Given the description of an element on the screen output the (x, y) to click on. 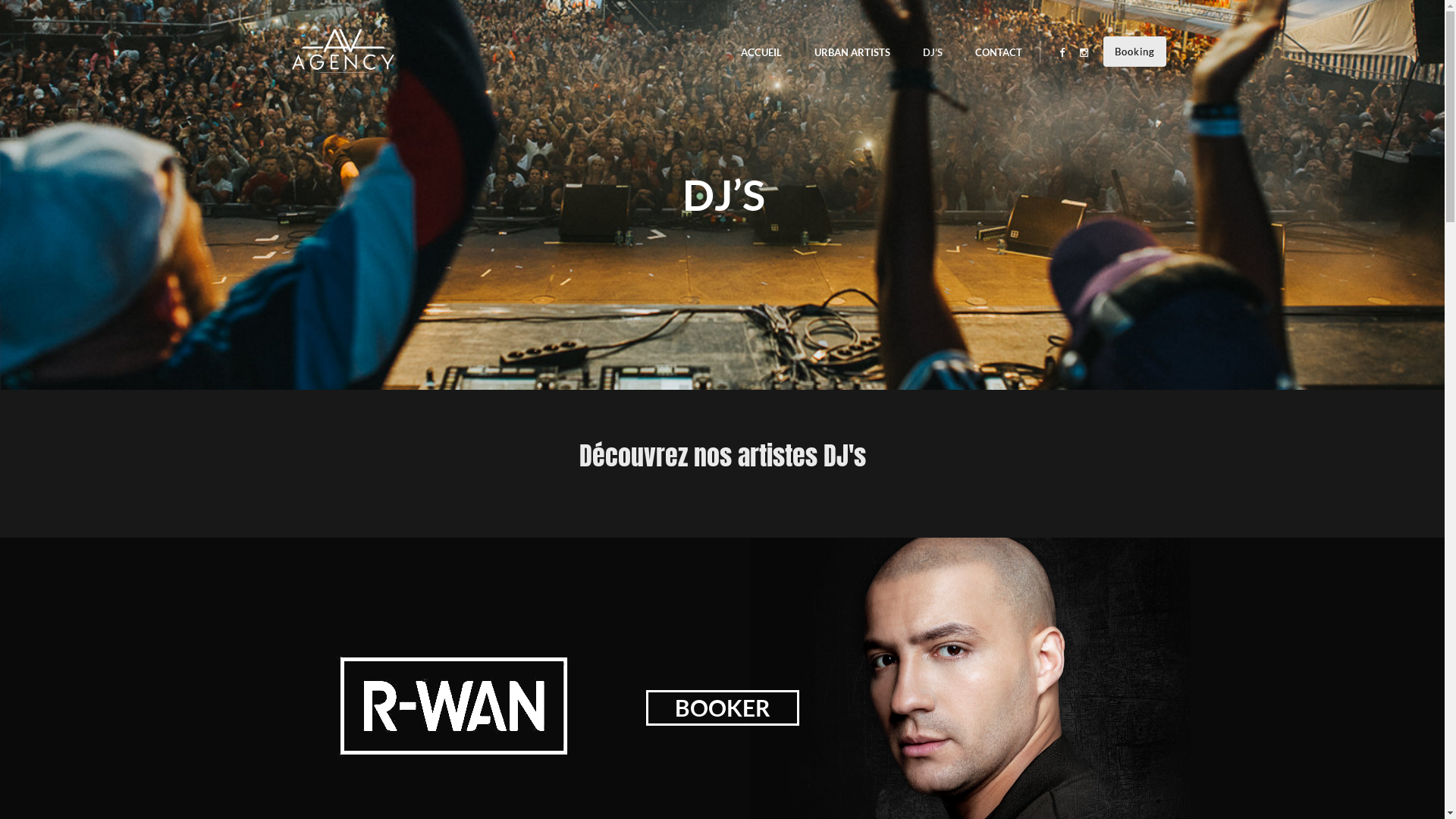
URBAN ARTISTS Element type: text (852, 52)
AV-Agency - Event & Booking Agency Element type: hover (343, 50)
CONTACT Element type: text (998, 52)
Booking Element type: text (1133, 51)
ACCUEIL Element type: text (760, 52)
